Given the description of an element on the screen output the (x, y) to click on. 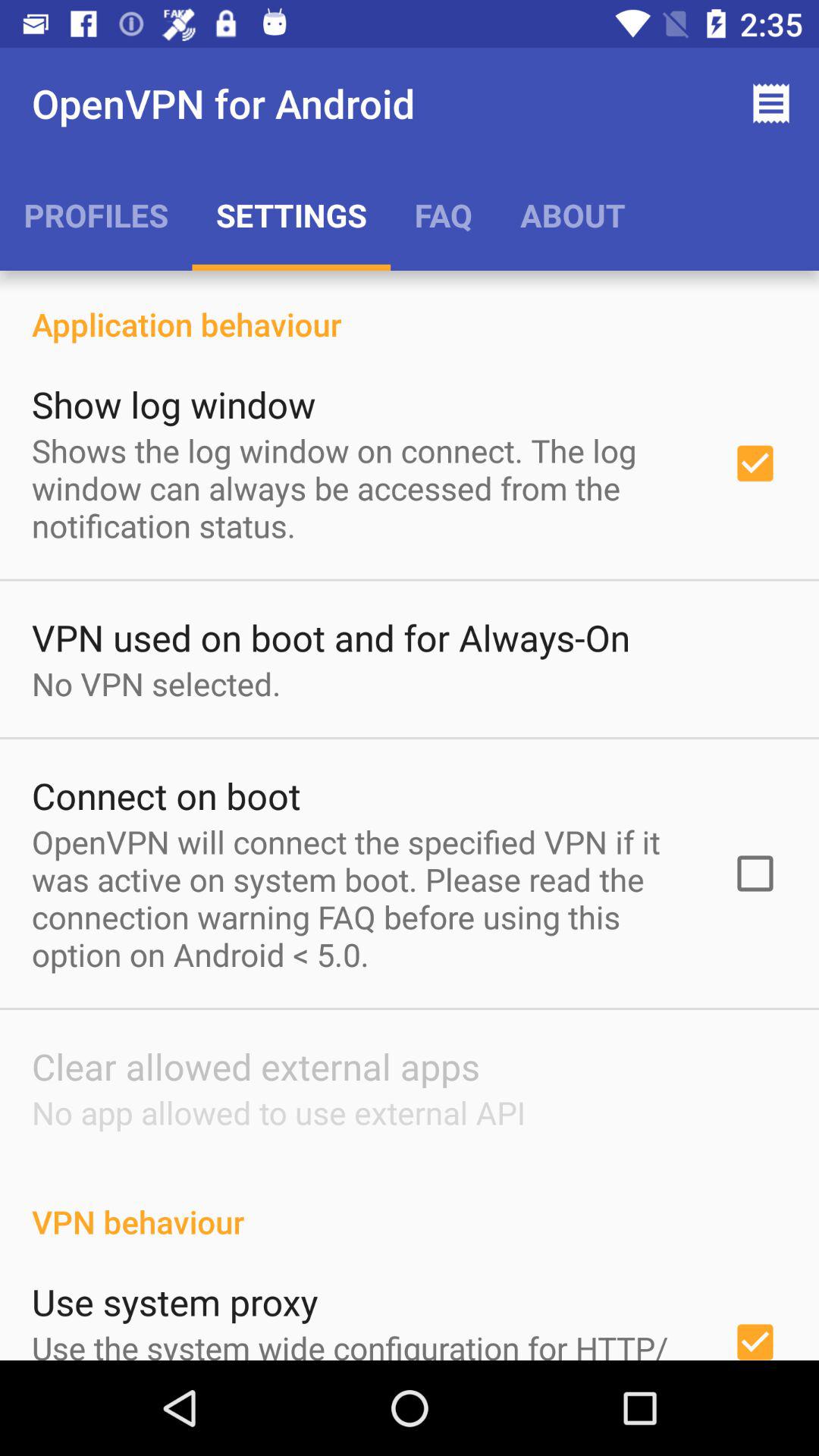
jump to the settings (291, 214)
